Given the description of an element on the screen output the (x, y) to click on. 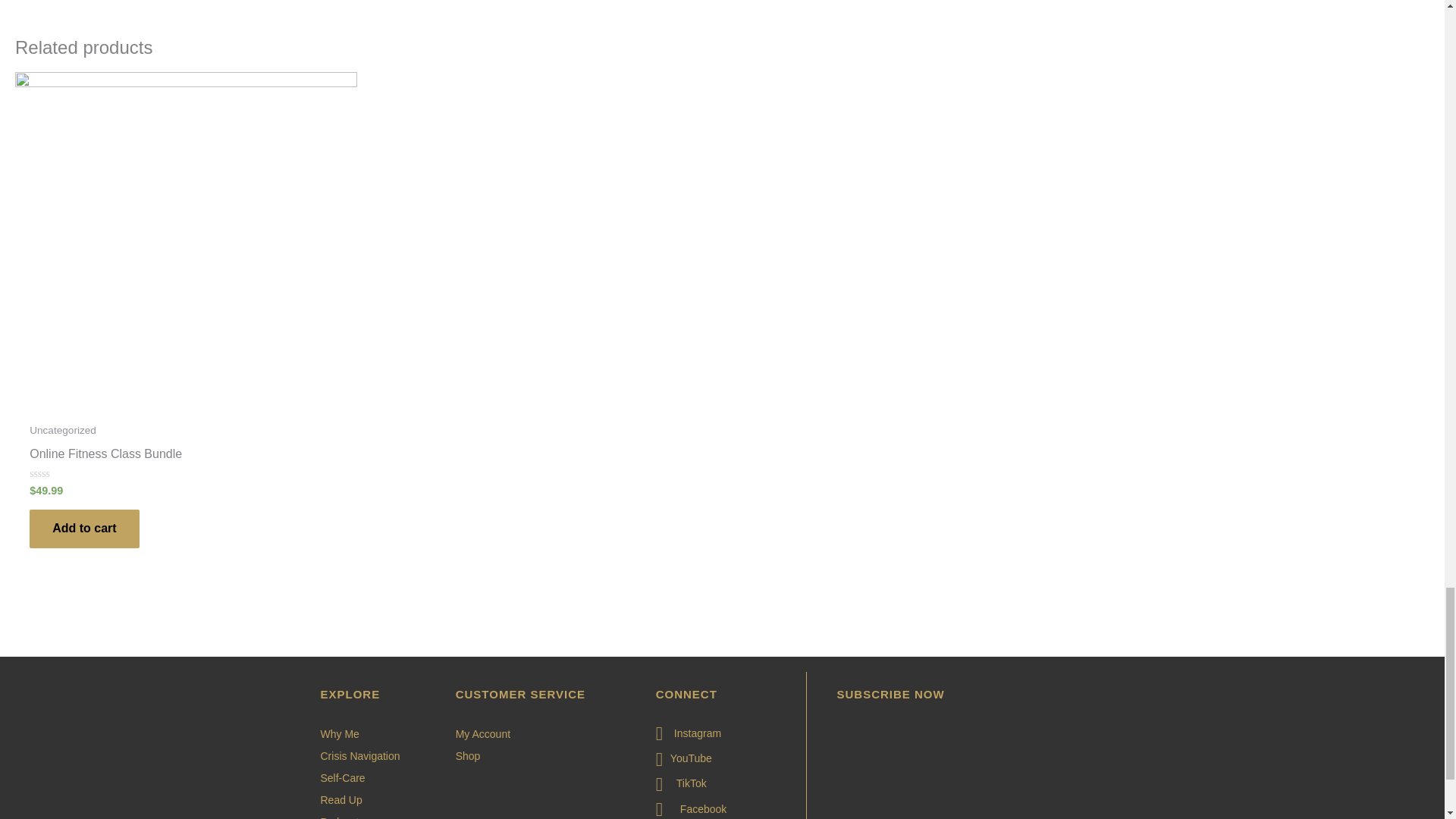
Online Fitness Class Bundle (185, 457)
My Account (538, 730)
Add to cart (83, 528)
Crisis Navigation (370, 751)
Self-Care (370, 773)
Why Me (370, 730)
Podcast (370, 814)
Read Up (370, 796)
